Given the description of an element on the screen output the (x, y) to click on. 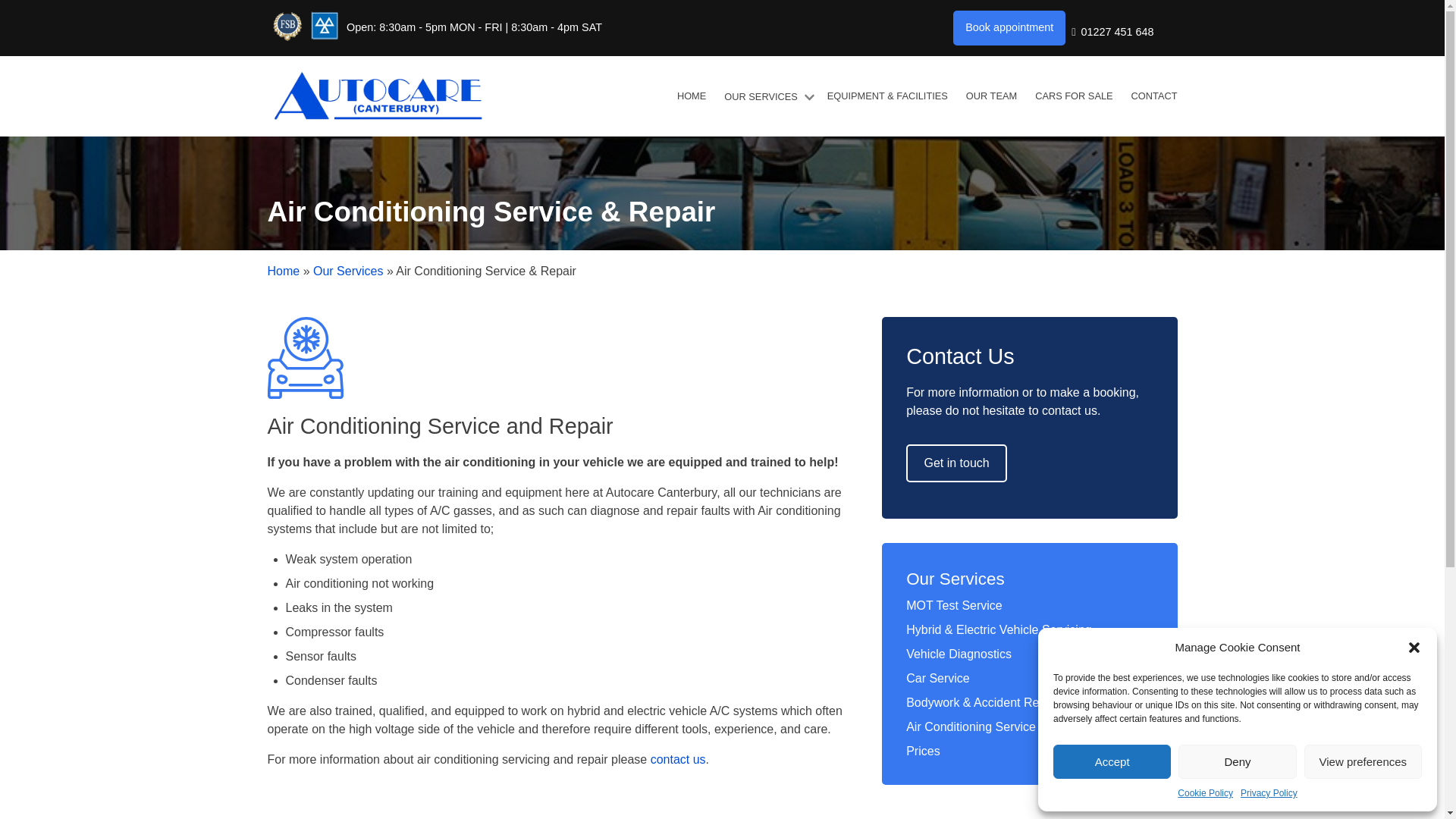
Cookie Policy (1205, 793)
Book appointment (1009, 27)
View preferences (1363, 761)
Accept (1111, 761)
01227 451 648 (1112, 32)
Deny (1236, 761)
Privacy Policy (1268, 793)
OUR SERVICES (765, 95)
HOME (691, 95)
